Given the description of an element on the screen output the (x, y) to click on. 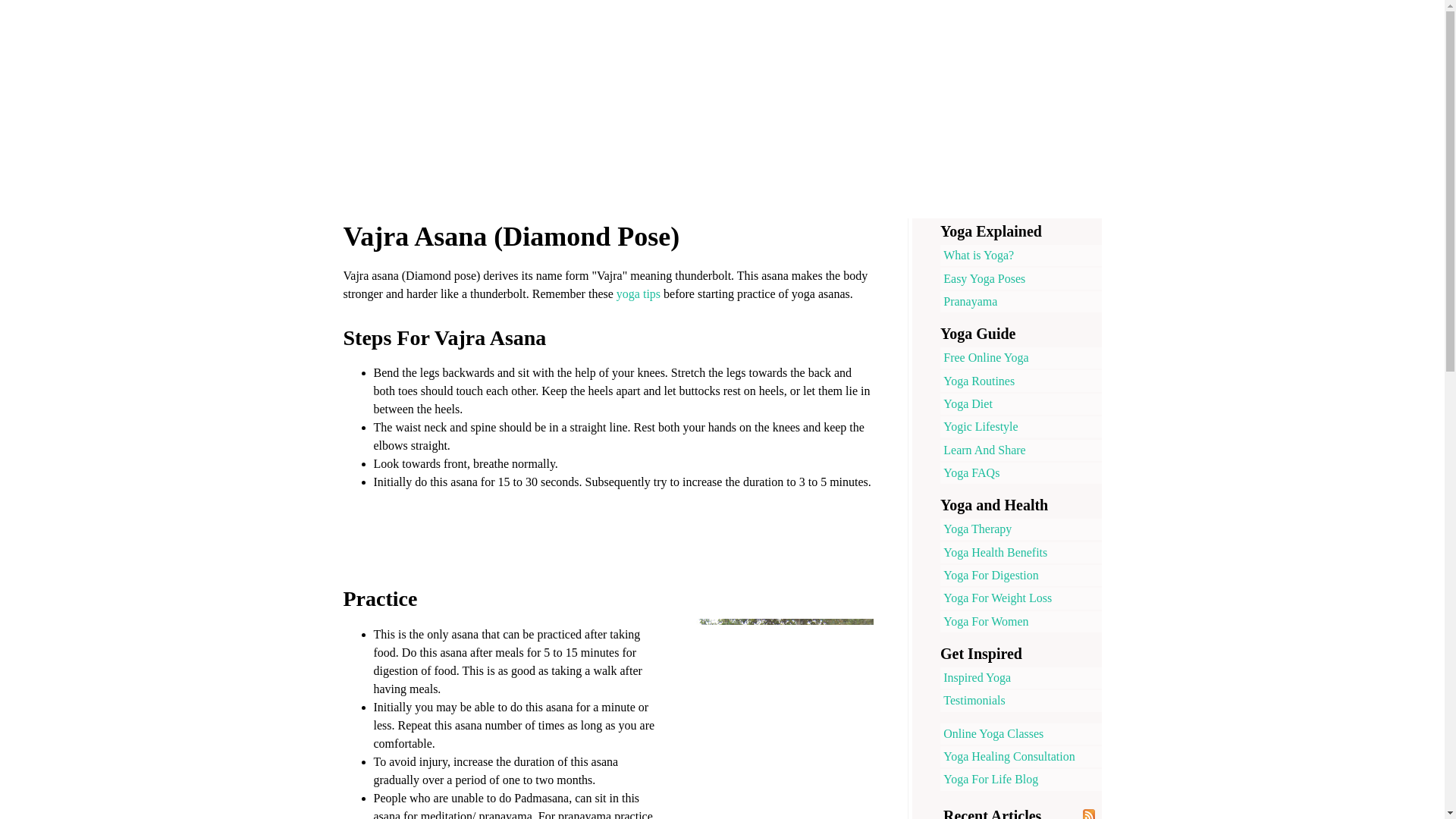
Testimonials (1021, 700)
Online Yoga Classes (1021, 733)
Yoga For Women (1021, 621)
What is Yoga? (1021, 255)
Yoga For Weight Loss (1021, 598)
Easy Yoga Poses (1021, 278)
Inspired Yoga (1021, 677)
Yoga Therapy (1021, 528)
Yogic Lifestyle (1021, 426)
Yoga Healing Consultation (1021, 756)
